Given the description of an element on the screen output the (x, y) to click on. 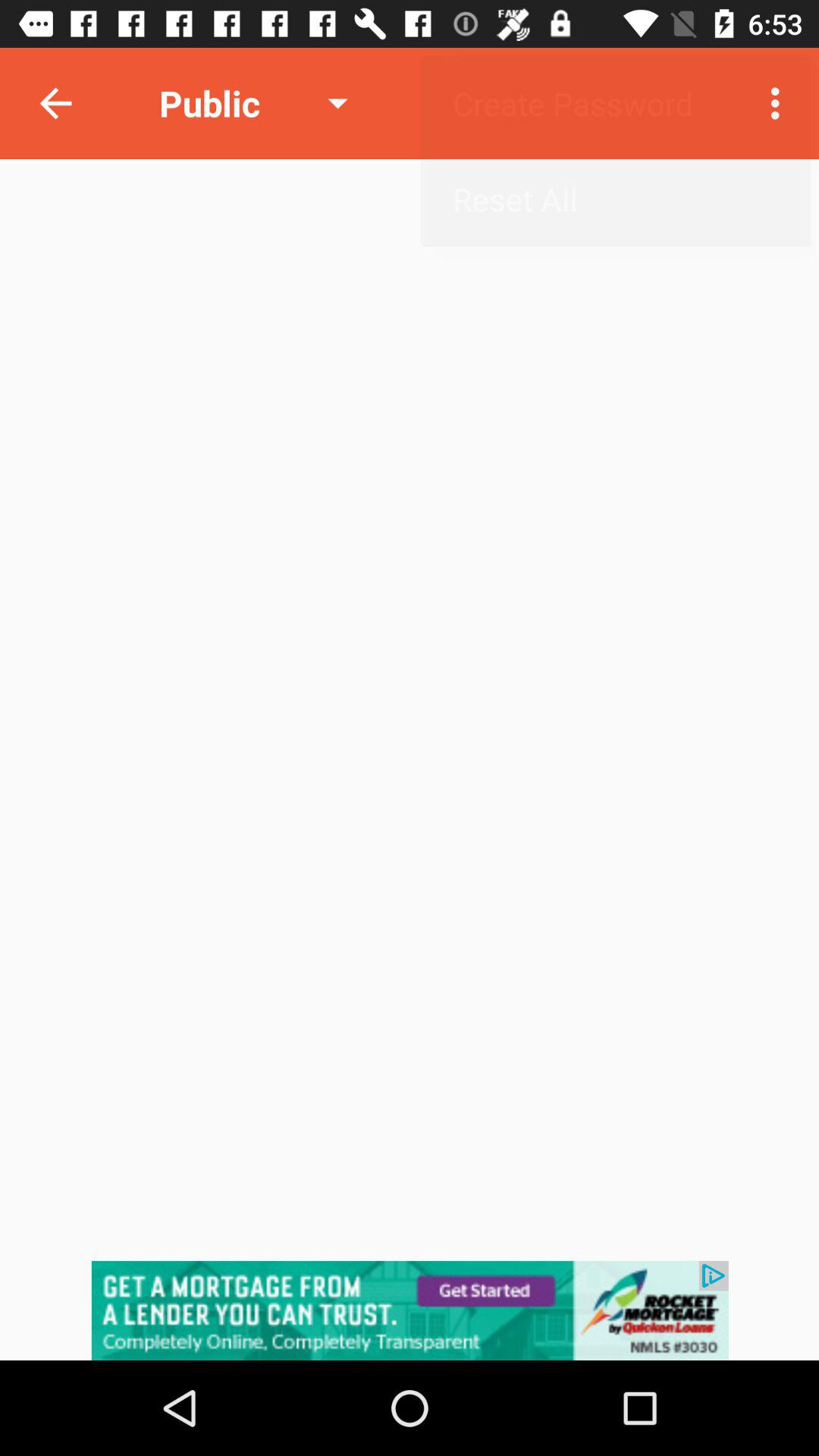
sponsored advertisement (409, 1310)
